Given the description of an element on the screen output the (x, y) to click on. 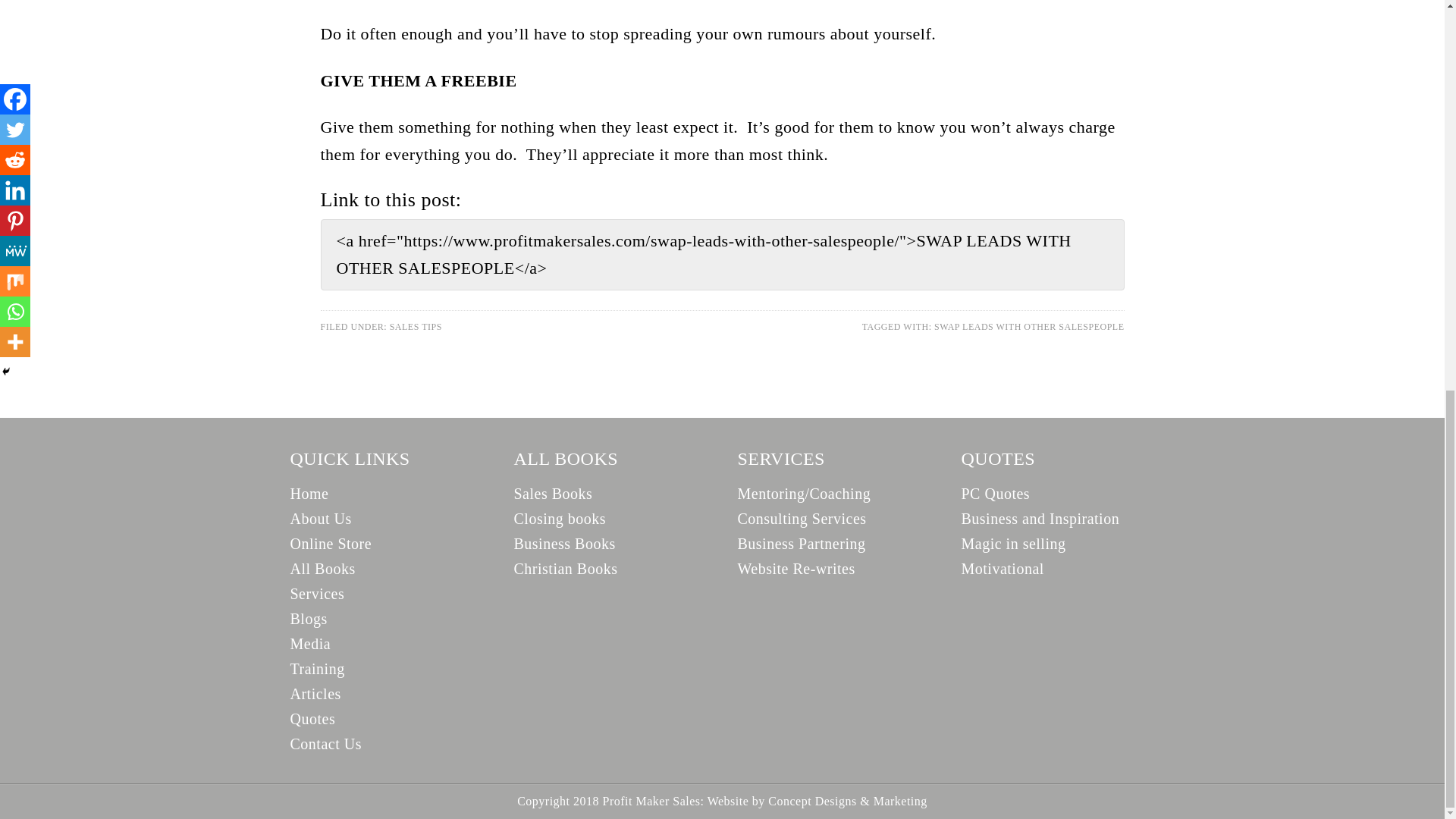
About Us (319, 518)
Home (309, 493)
SWAP LEADS WITH OTHER SALESPEOPLE (1029, 326)
SALES TIPS (416, 326)
